Given the description of an element on the screen output the (x, y) to click on. 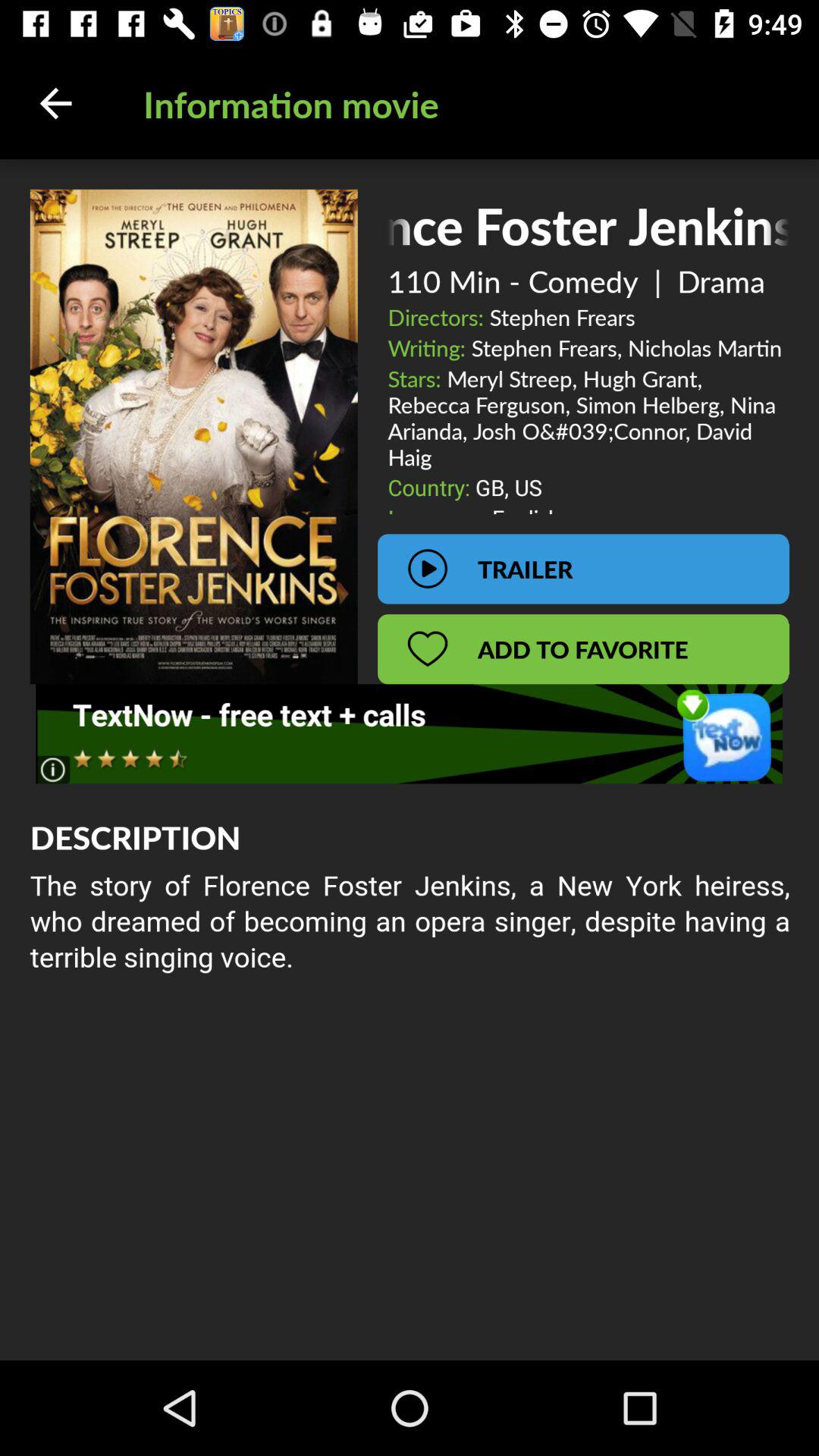
advisement (408, 733)
